Given the description of an element on the screen output the (x, y) to click on. 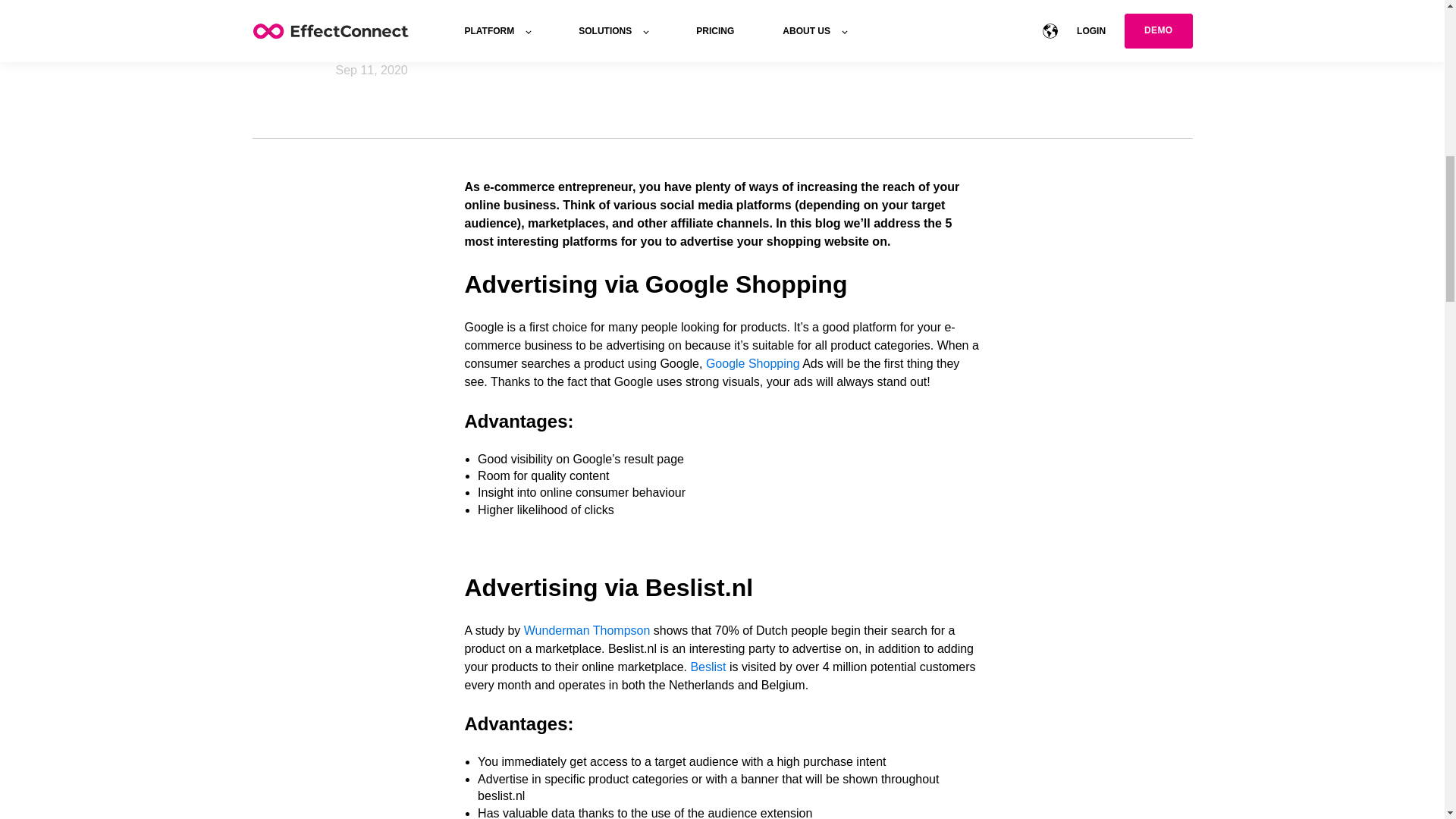
Wunderman Thompson (587, 630)
Google Shopping (752, 363)
Olga van Borren (378, 51)
Beslist (709, 666)
